Given the description of an element on the screen output the (x, y) to click on. 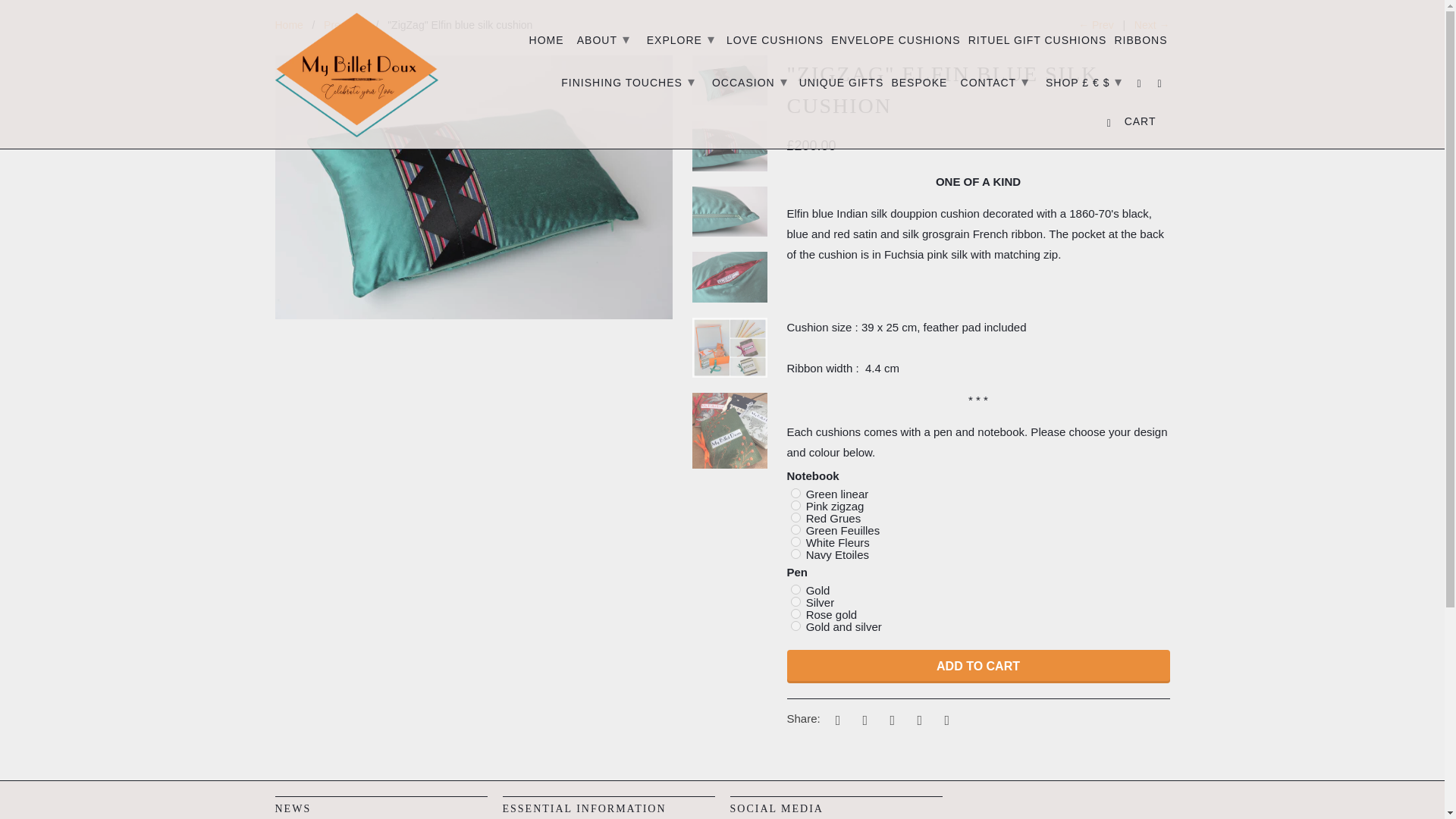
Share this on Facebook (862, 719)
MyBilletDoux (288, 24)
Email this to a friend (944, 719)
Green linear (794, 492)
Share this on Pinterest (889, 719)
"ZigZag" Elfin blue silk cushion - MyBilletDoux.com (473, 187)
Rose gold (794, 614)
Pre 1900 (344, 24)
Pink zigzag (794, 505)
Green Feuilles (794, 529)
Gold and silver (794, 625)
White Fleurs (794, 542)
Red Grues (794, 517)
Silver (794, 601)
Share this on Twitter (835, 719)
